Given the description of an element on the screen output the (x, y) to click on. 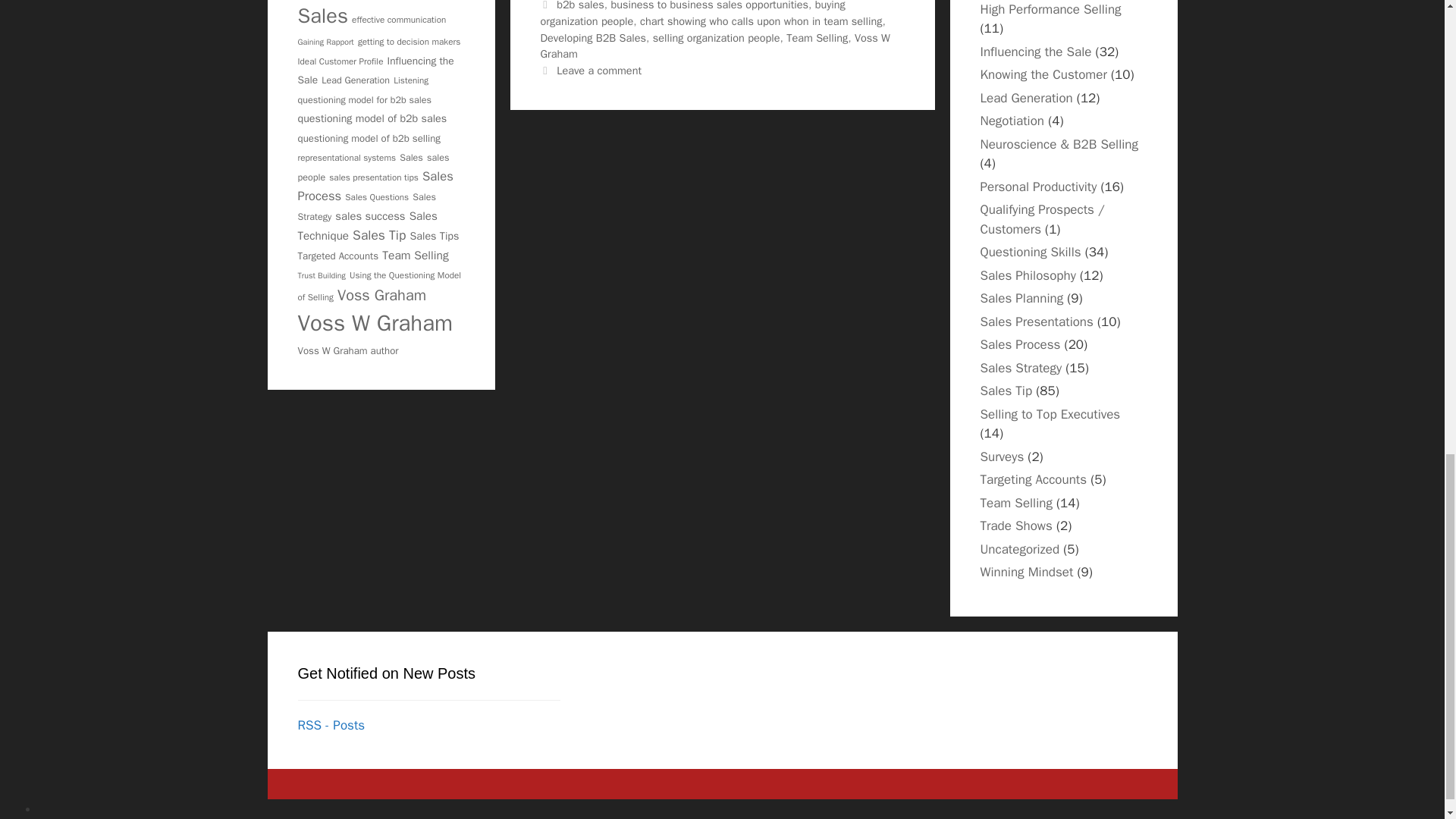
Leave a comment (599, 69)
buying organization people (692, 13)
Developing B2B Sales (593, 38)
business to business sales opportunities (709, 5)
chart showing who calls upon whon in team selling (761, 20)
selling organization people (716, 38)
Team Selling (816, 38)
b2b sales (580, 5)
Voss W Graham (714, 46)
